Given the description of an element on the screen output the (x, y) to click on. 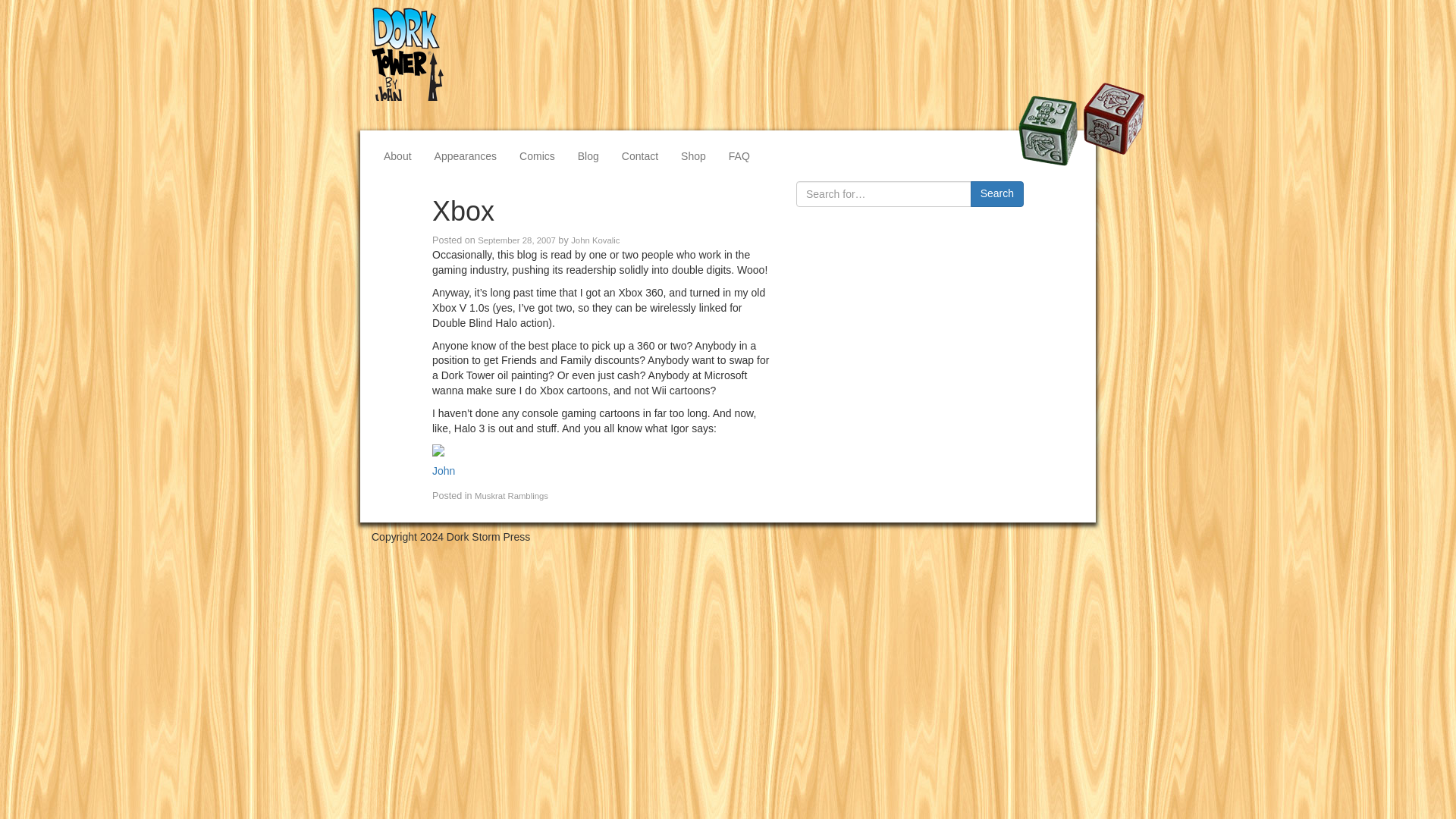
About (397, 155)
Comics (537, 155)
FAQ (739, 155)
John (443, 470)
John Kovalic (595, 239)
Shop (693, 155)
Appearances (465, 155)
September 28, 2007 (516, 239)
Search (997, 193)
Search (997, 193)
